Given the description of an element on the screen output the (x, y) to click on. 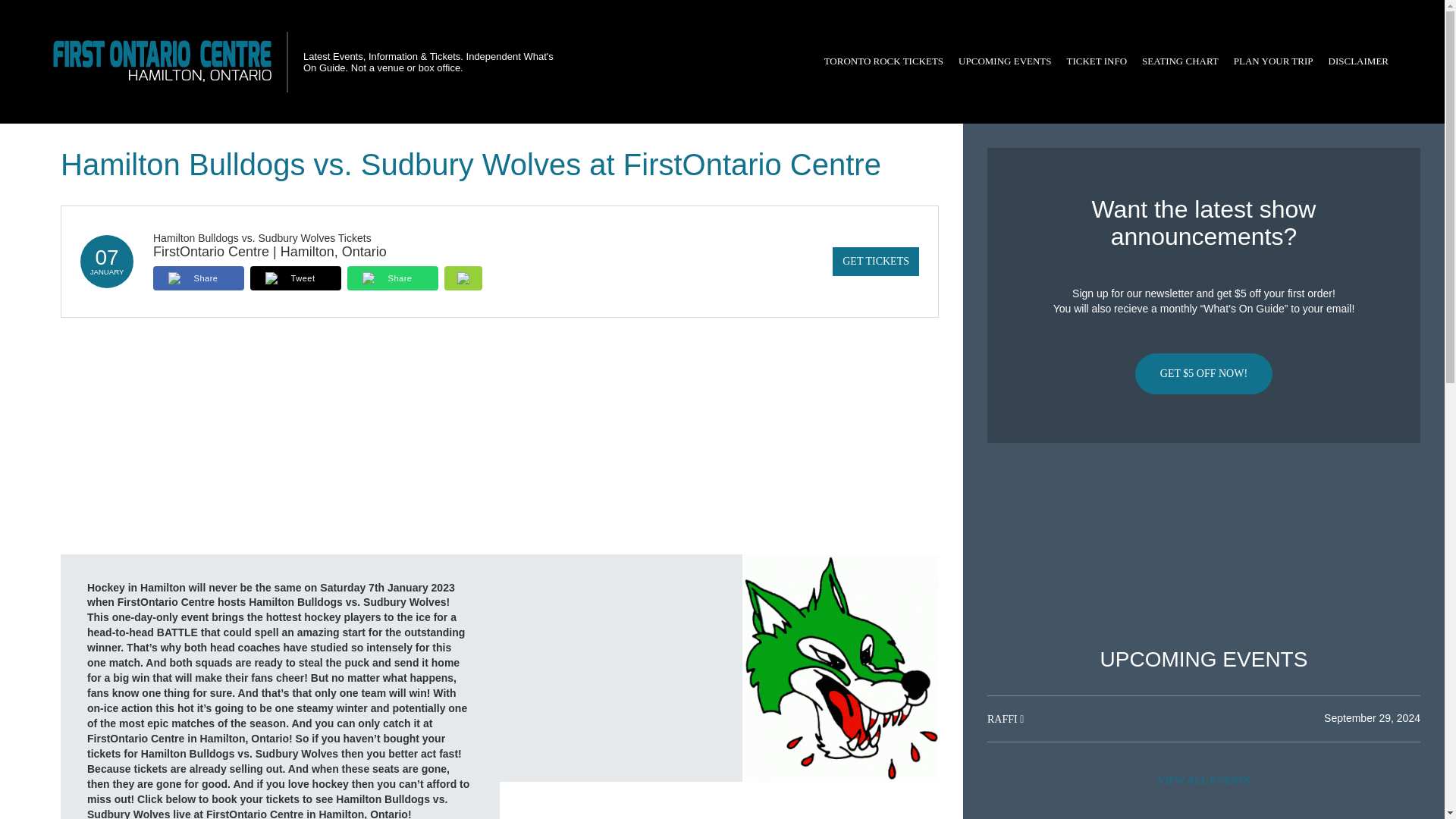
UPCOMING EVENTS (1004, 61)
GET TICKETS (875, 261)
Hamilton Bulldogs vs. Sudbury Wolves Tickets (261, 237)
DISCLAIMER (1358, 61)
VIEW ALL EVENTS (1203, 780)
TICKET INFO (1097, 61)
Advertisement (1204, 545)
SEATING CHART (1179, 61)
PLAN YOUR TRIP (1272, 61)
